Given the description of an element on the screen output the (x, y) to click on. 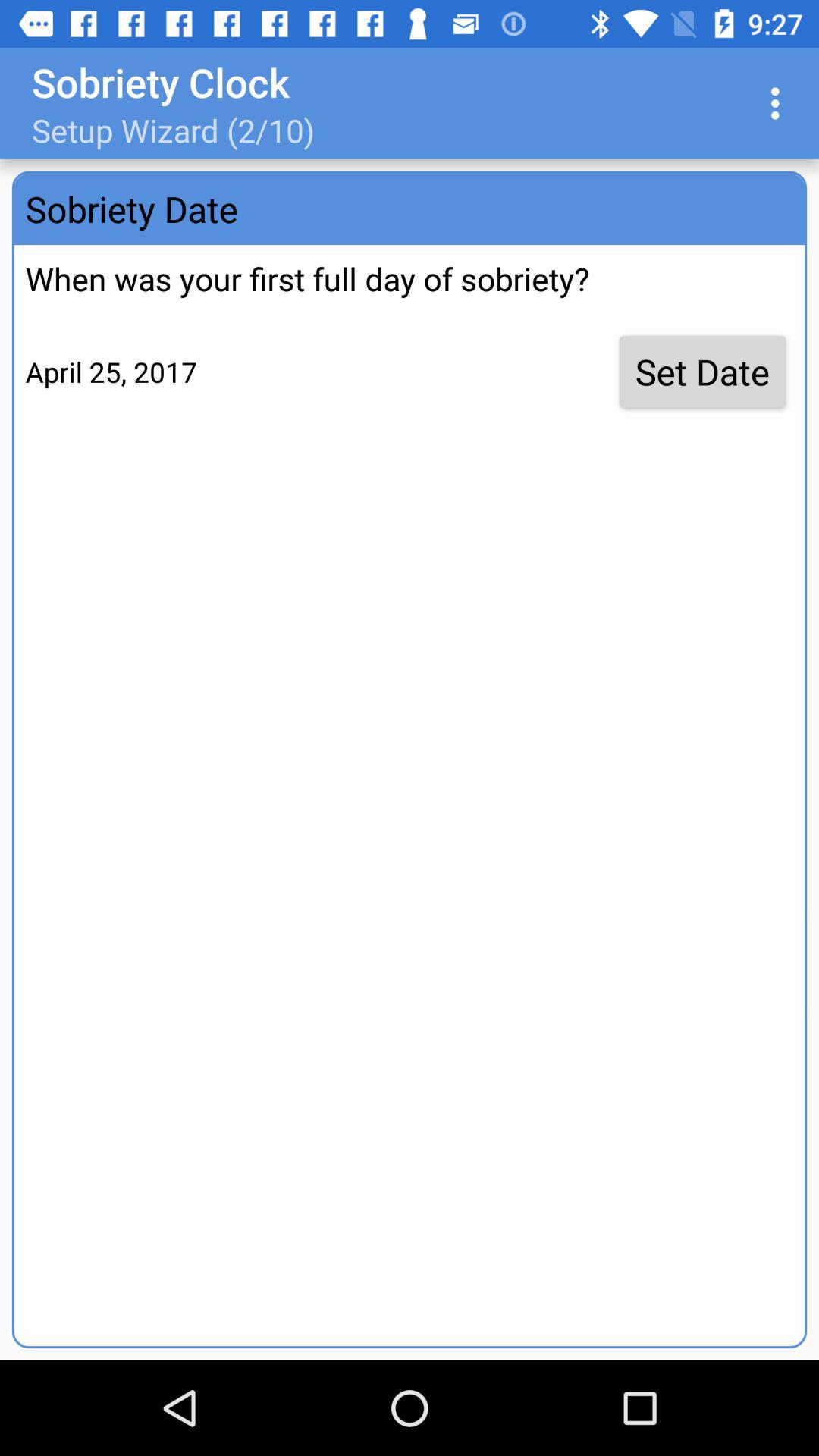
turn on the icon above the sobriety date icon (779, 103)
